Given the description of an element on the screen output the (x, y) to click on. 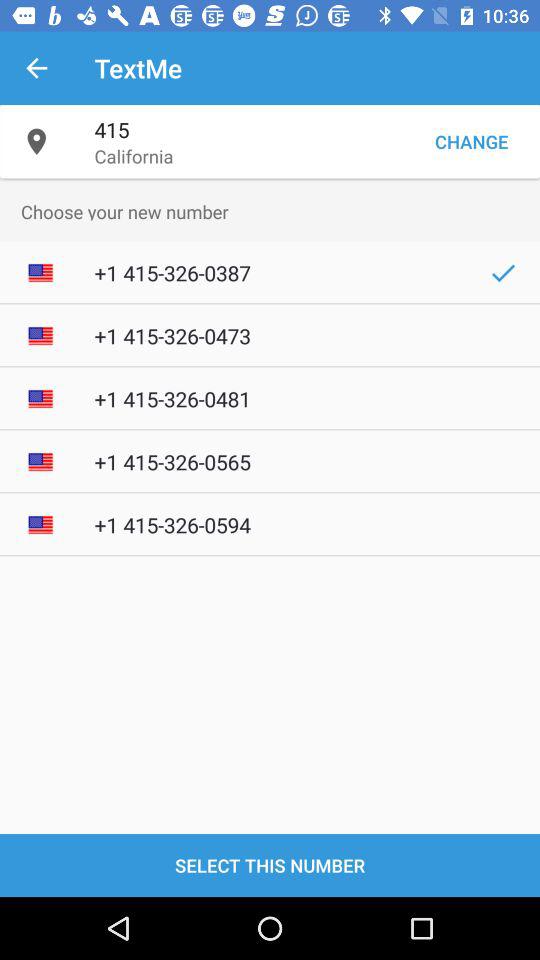
flip until the change (471, 141)
